Given the description of an element on the screen output the (x, y) to click on. 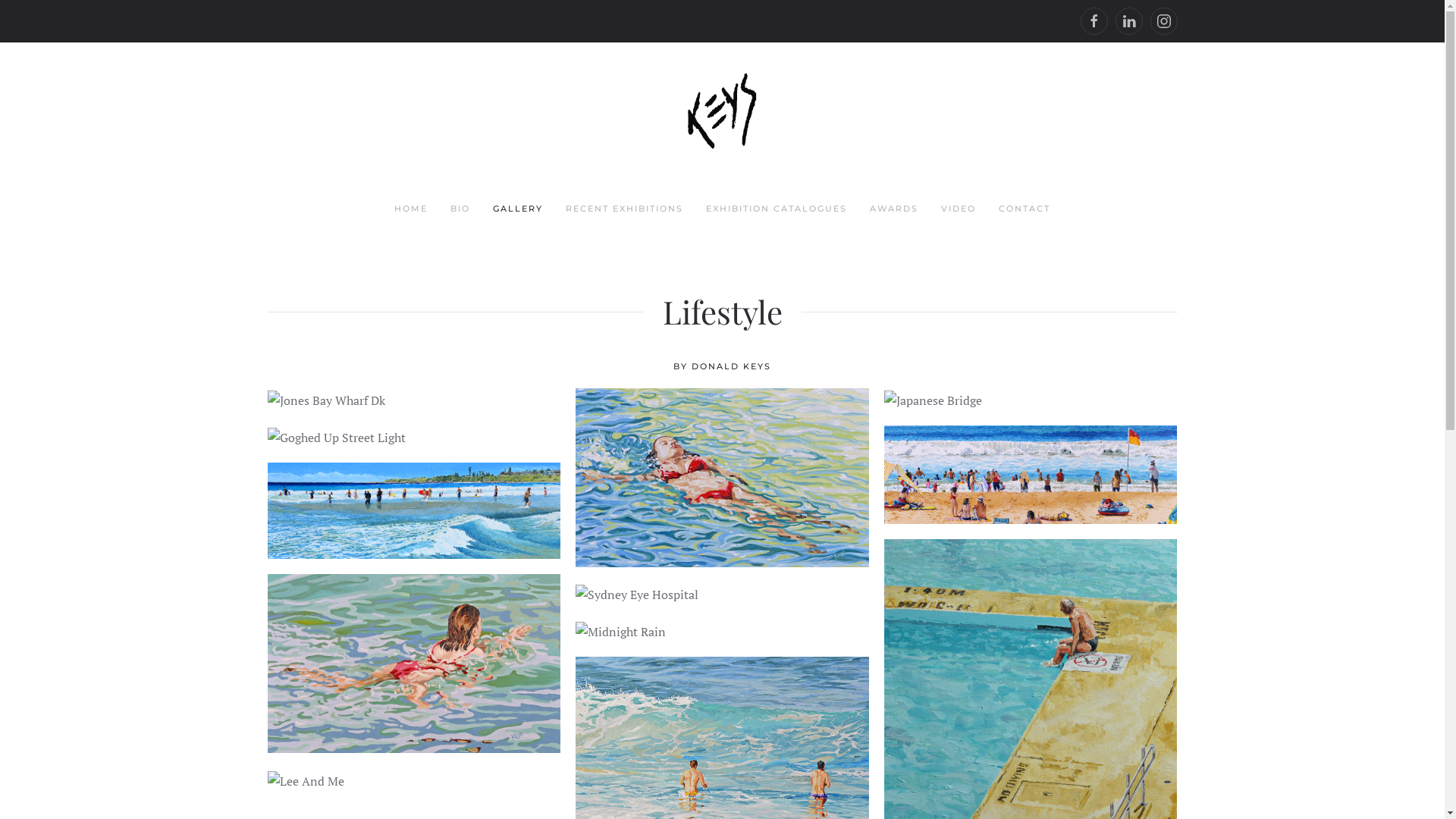
Play at Belmore Basin Element type: hover (413, 510)
VIDEO Element type: text (958, 208)
HOME Element type: text (410, 208)
Lee And Me Element type: hover (304, 779)
Augmented Landscape Element type: hover (722, 477)
EXHIBITION CATALOGUES Element type: text (776, 208)
AWARDS Element type: text (893, 208)
GALLERY Element type: text (517, 208)
Kurraba Point Element type: hover (1030, 474)
RECENT EXHIBITIONS Element type: text (624, 208)
BIO Element type: text (460, 208)
Kendal Lane Stalker Element type: hover (413, 663)
Japanese Bridge Element type: hover (933, 399)
Jones Bay Wharf Dk Element type: hover (325, 399)
Sydney Eye Hospital Element type: hover (636, 593)
CONTACT Element type: text (1024, 208)
Midnight Rain Element type: hover (620, 630)
Goghed Up Street Light Element type: hover (335, 436)
